Given the description of an element on the screen output the (x, y) to click on. 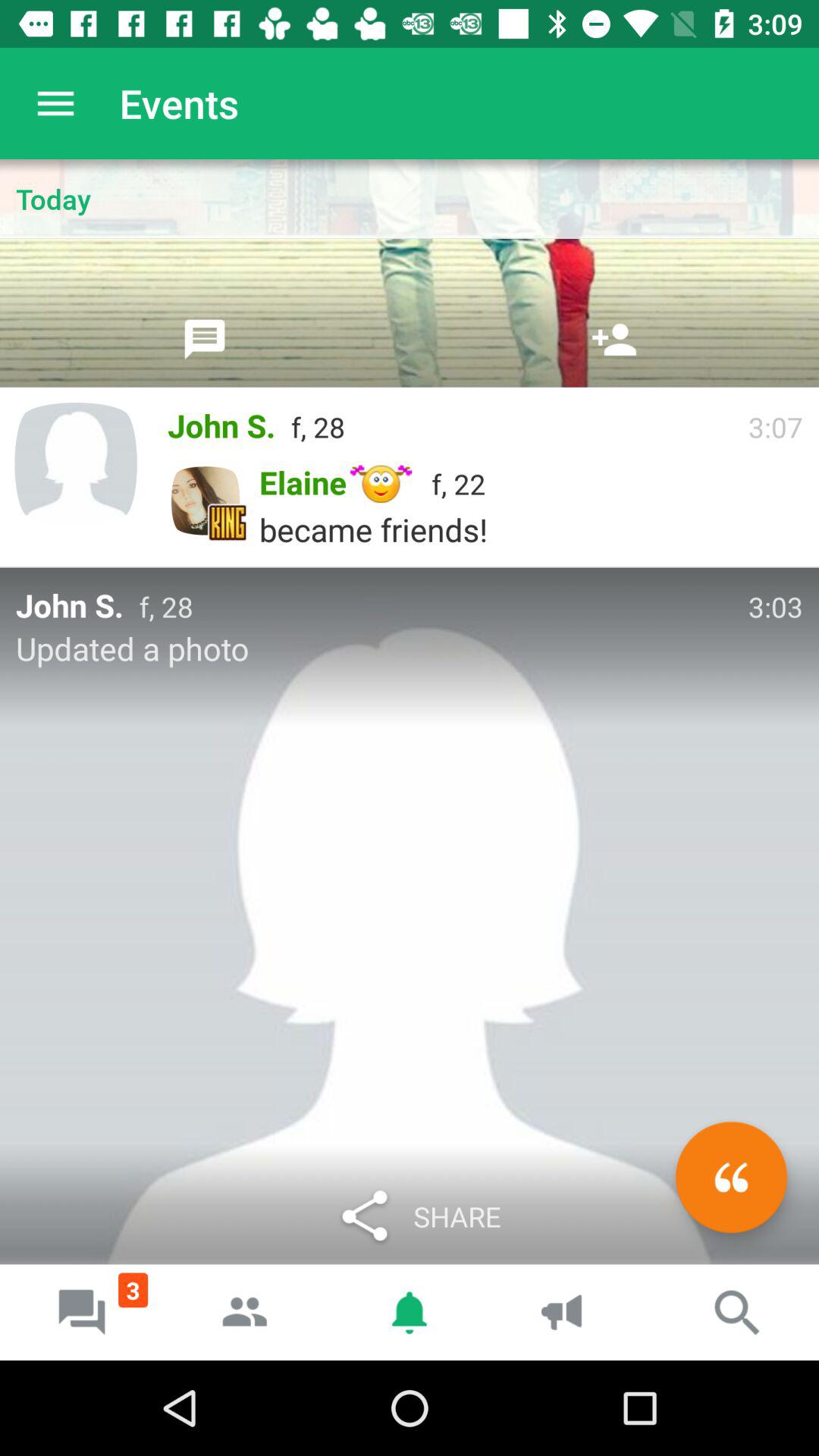
turn on item below the today item (204, 339)
